Given the description of an element on the screen output the (x, y) to click on. 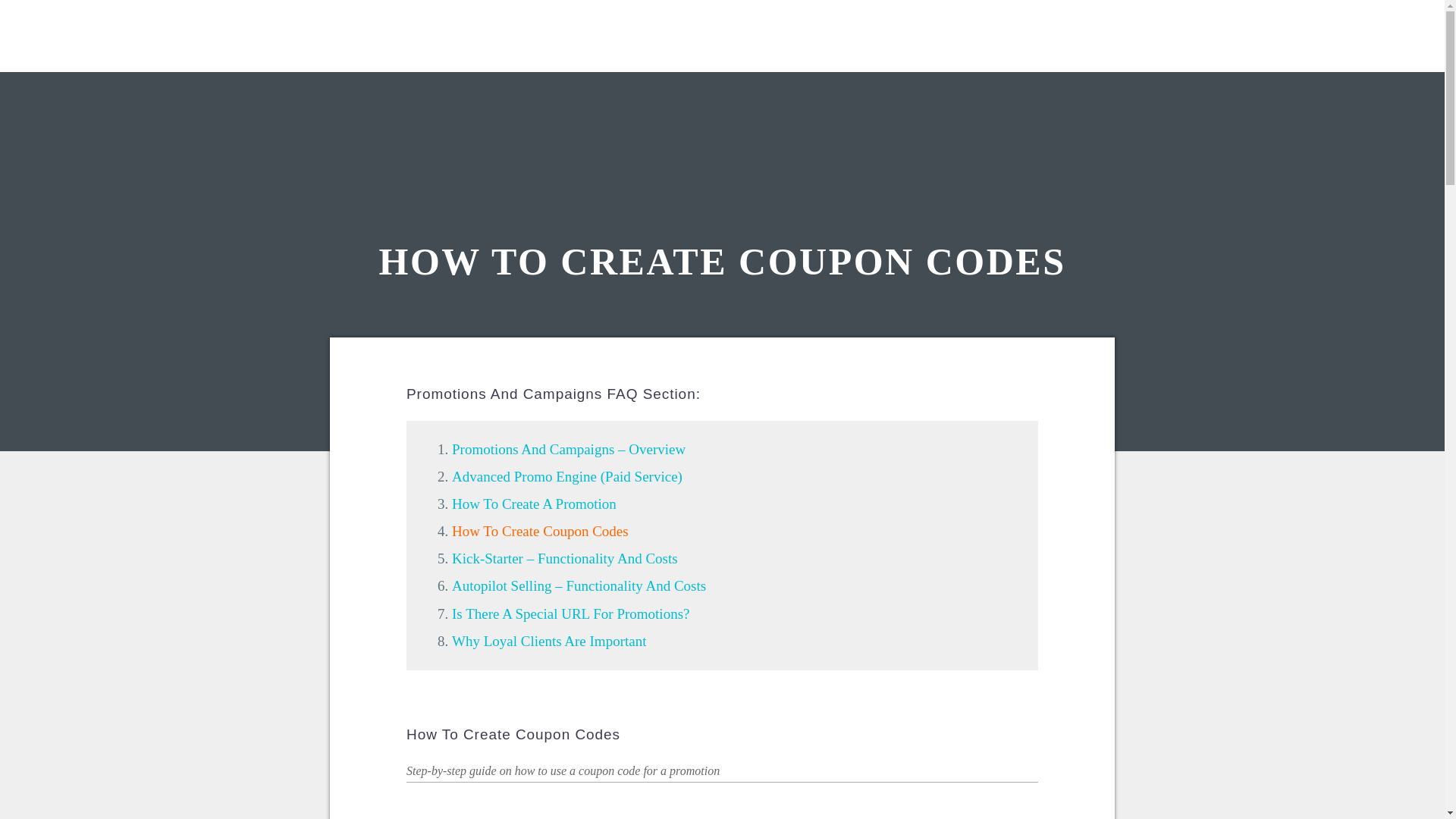
How To Create Coupon Codes (539, 530)
Why Loyal Clients Are Important (548, 641)
How To Create A Promotion (533, 503)
Is There A Special URL For Promotions? (569, 613)
